Given the description of an element on the screen output the (x, y) to click on. 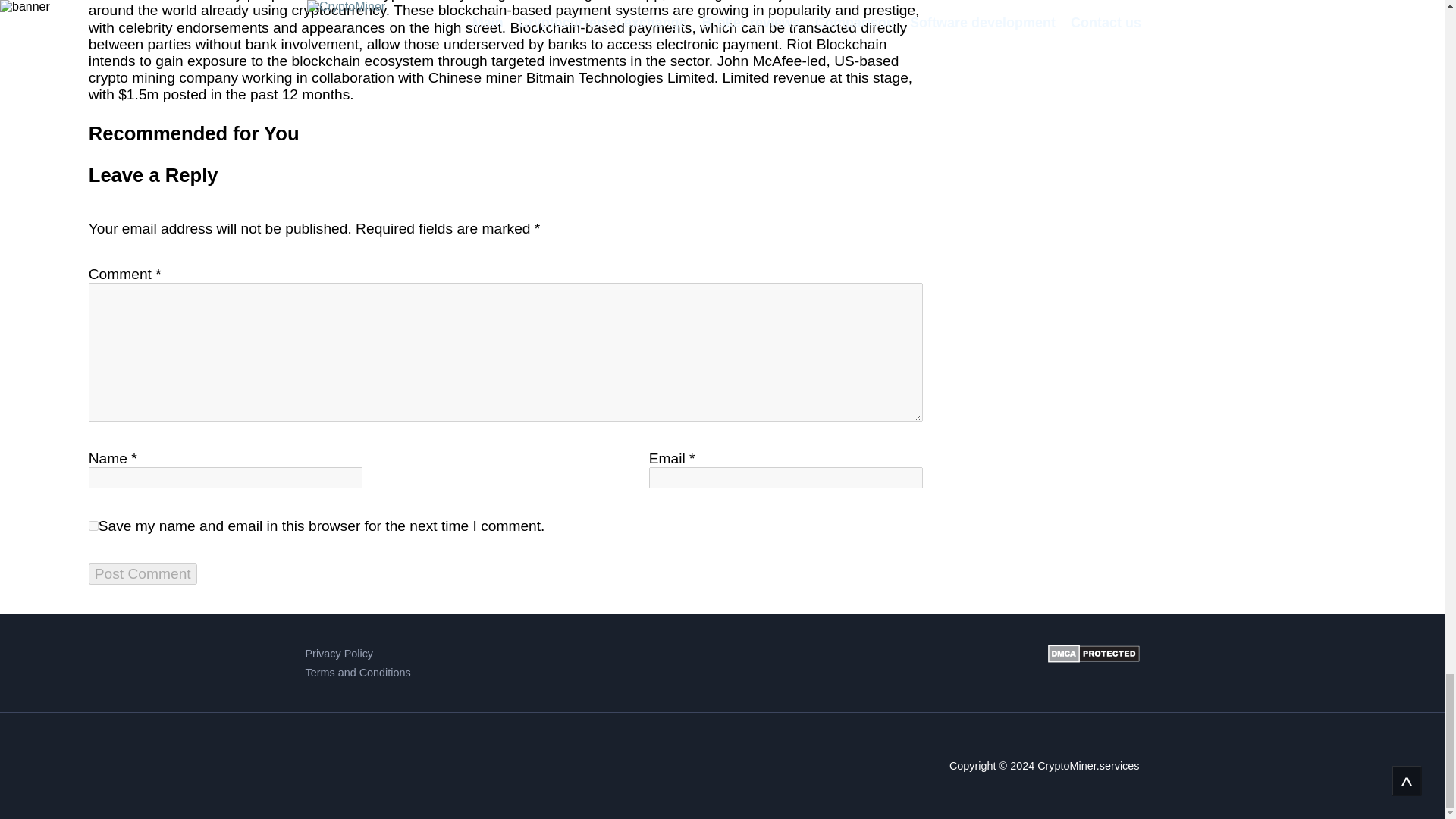
Post Comment (142, 573)
DMCA.com Protection Status (1094, 662)
yes (93, 525)
